Given the description of an element on the screen output the (x, y) to click on. 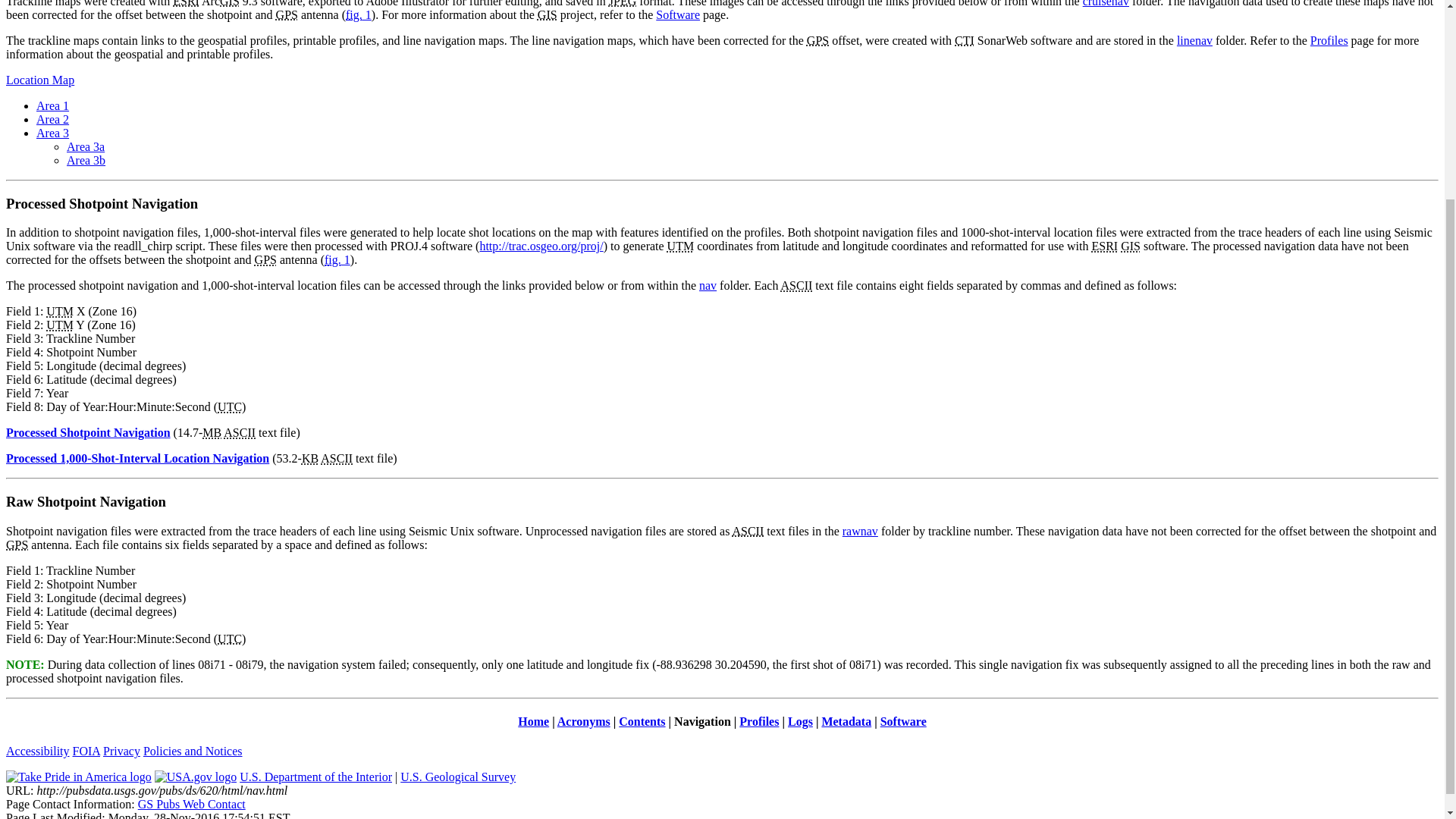
Universal Transverse Mercator (60, 324)
Area 3a (85, 146)
Universal Transverse Mercator (60, 310)
Geographic Information System (229, 3)
figure (332, 259)
fig. 1 (358, 14)
Processed Shotpoint Navigation (87, 431)
Environmental Systems Research Institute (186, 3)
Location Map (39, 79)
Joint Photographic Experts Group (622, 3)
Logs (799, 721)
Privacy (121, 750)
Environmental Systems Research Institute (1104, 245)
fig. 1 (337, 259)
Home (533, 721)
